Given the description of an element on the screen output the (x, y) to click on. 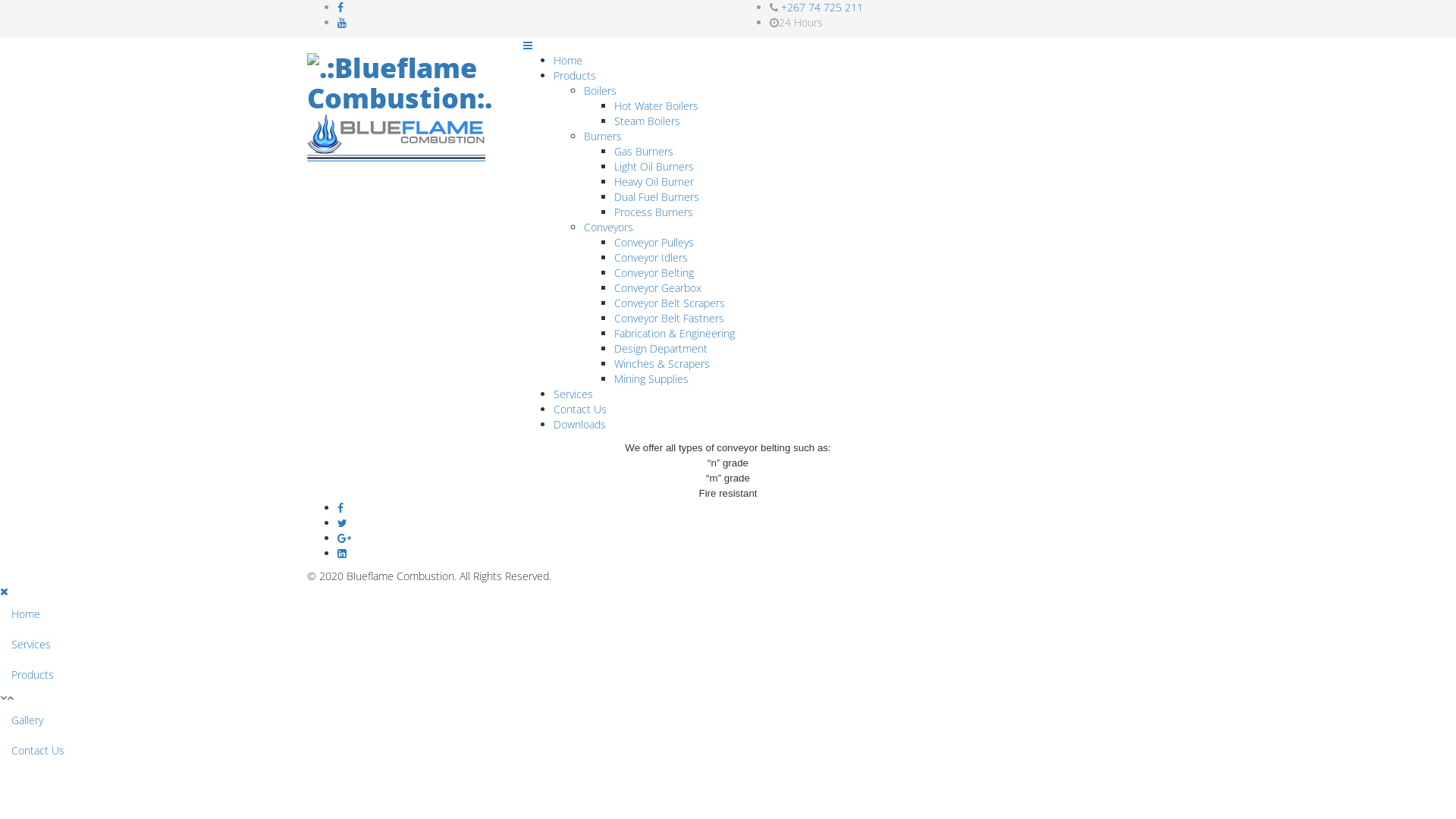
Process Burners Element type: text (653, 211)
Downloads Element type: text (579, 424)
Share On Google Plus Element type: hover (344, 537)
Steam Boilers Element type: text (647, 120)
Conveyors Element type: text (608, 226)
Gas Burners Element type: text (643, 151)
Boilers Element type: text (599, 90)
Design Department Element type: text (660, 348)
Share On Twitter Element type: hover (742, 522)
Products Element type: text (574, 75)
Fabrication & Engineering Element type: text (674, 333)
Conveyor Belt Fastners Element type: text (669, 317)
Hot Water Boilers Element type: text (656, 105)
Conveyor Gearbox Element type: text (657, 287)
Services Element type: text (573, 393)
Burners Element type: text (602, 135)
+267 74 725 211 Element type: text (821, 7)
Conveyor Pulleys Element type: text (653, 242)
Contact Us Element type: text (579, 408)
Winches & Scrapers Element type: text (661, 363)
Light Oil Burners Element type: text (653, 166)
Share On Facebook Element type: hover (742, 507)
Conveyor Belt Scrapers Element type: text (669, 302)
Home Element type: text (567, 60)
Mining Supplies Element type: text (651, 378)
  Element type: text (1, 772)
Share On Linkedin Element type: hover (341, 553)
Conveyor Idlers Element type: text (650, 257)
Heavy Oil Burner Element type: text (653, 181)
Dual Fuel Burners Element type: text (656, 196)
Conveyor Belting Element type: text (653, 272)
